Given the description of an element on the screen output the (x, y) to click on. 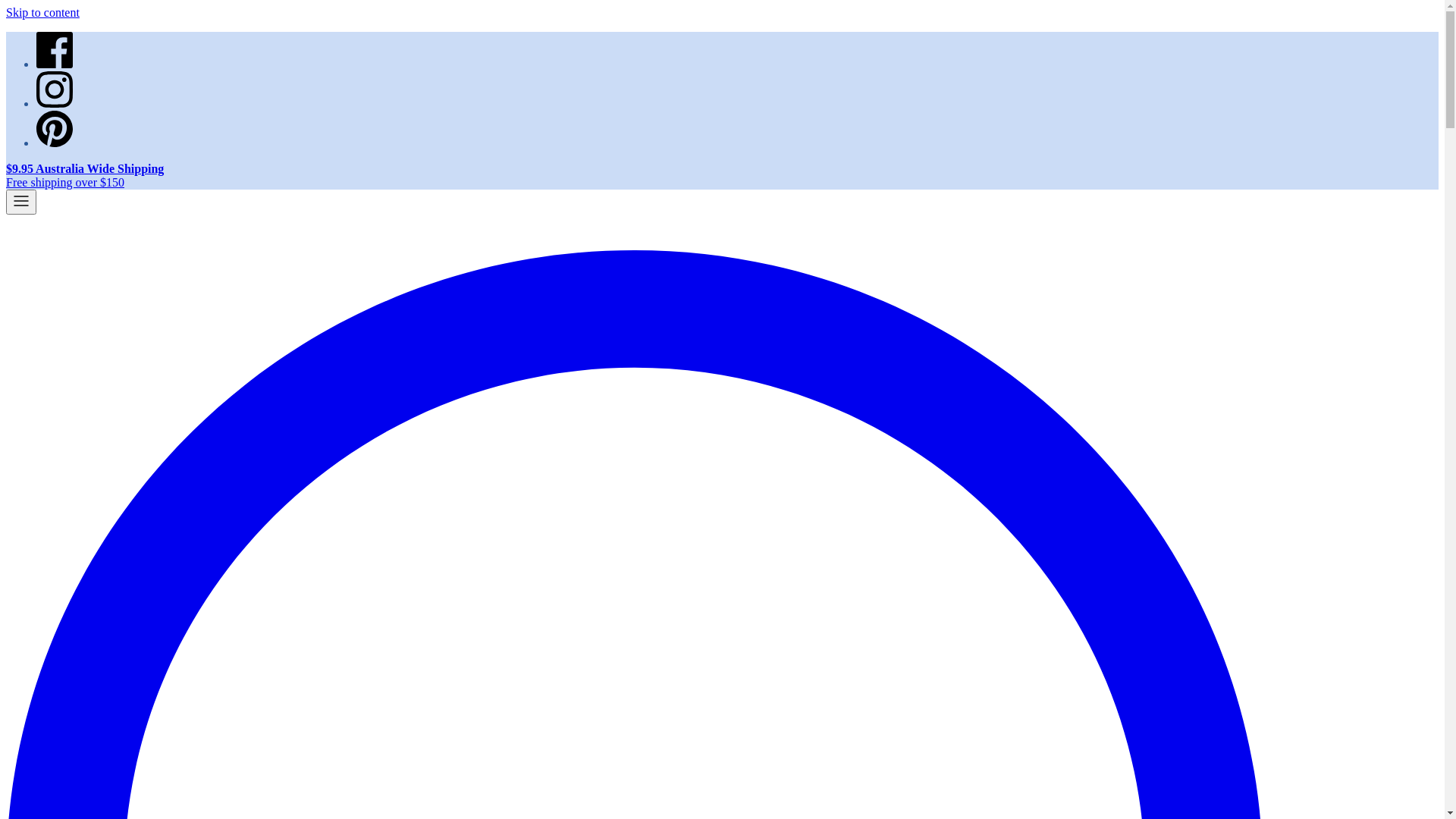
$9.95 Australia Wide Shipping
Free shipping over $150 Element type: text (722, 175)
Facebook Element type: text (54, 63)
Pinterest Element type: text (54, 142)
Instagram Element type: text (54, 103)
Skip to content Element type: text (42, 12)
